Given the description of an element on the screen output the (x, y) to click on. 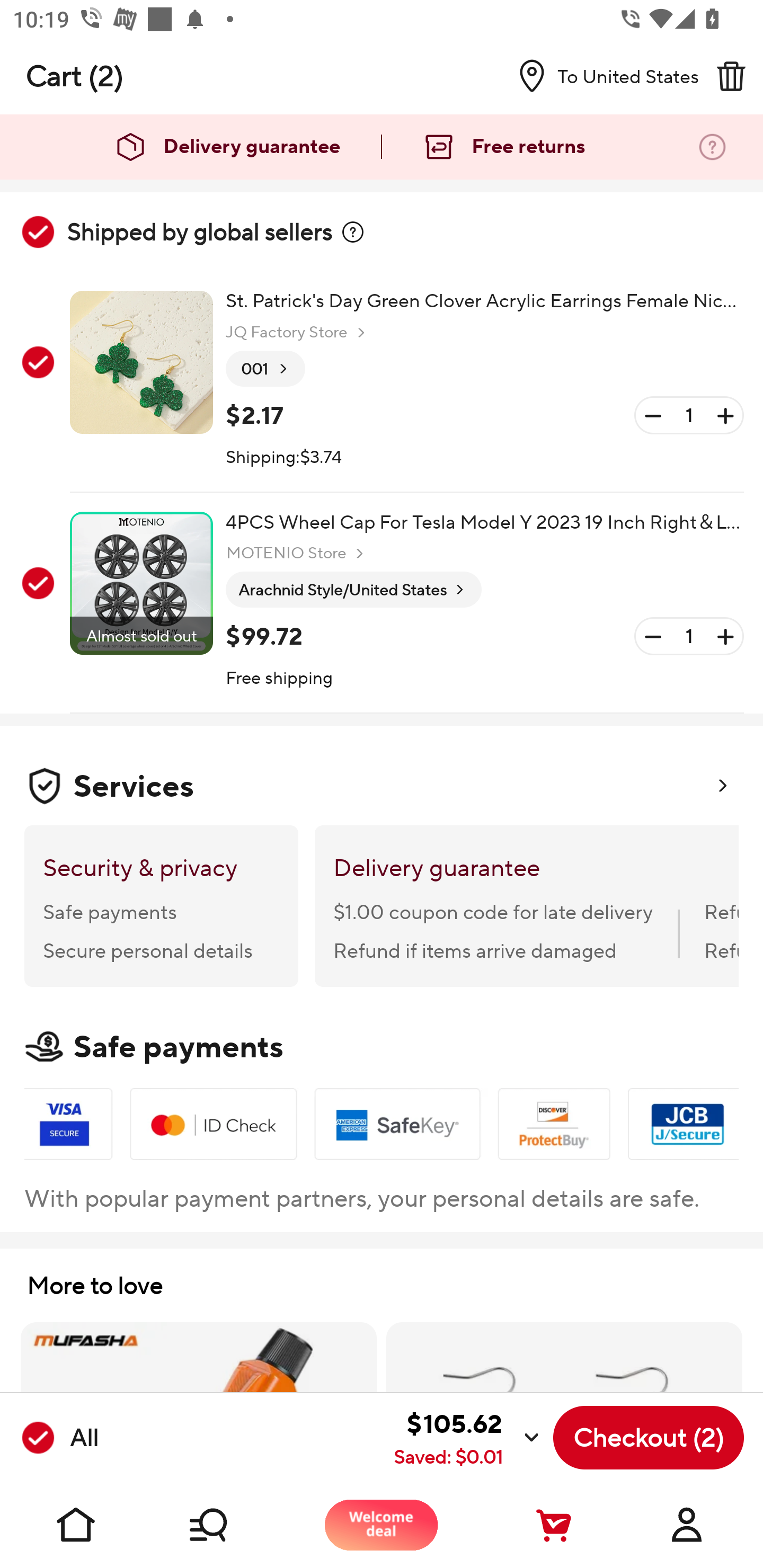
 To United States (601, 75)
 (730, 75)
 (352, 231)
JQ Factory Store (297, 333)
001 (265, 369)
1 (688, 415)
MOTENIO Store (296, 553)
Arachnid Style/United States (353, 590)
1 (688, 636)
$_105.62 Saved: $0.01  (324, 1437)
Checkout (2) (648, 1437)
Home (76, 1524)
Shop (228, 1524)
Account (686, 1524)
